Given the description of an element on the screen output the (x, y) to click on. 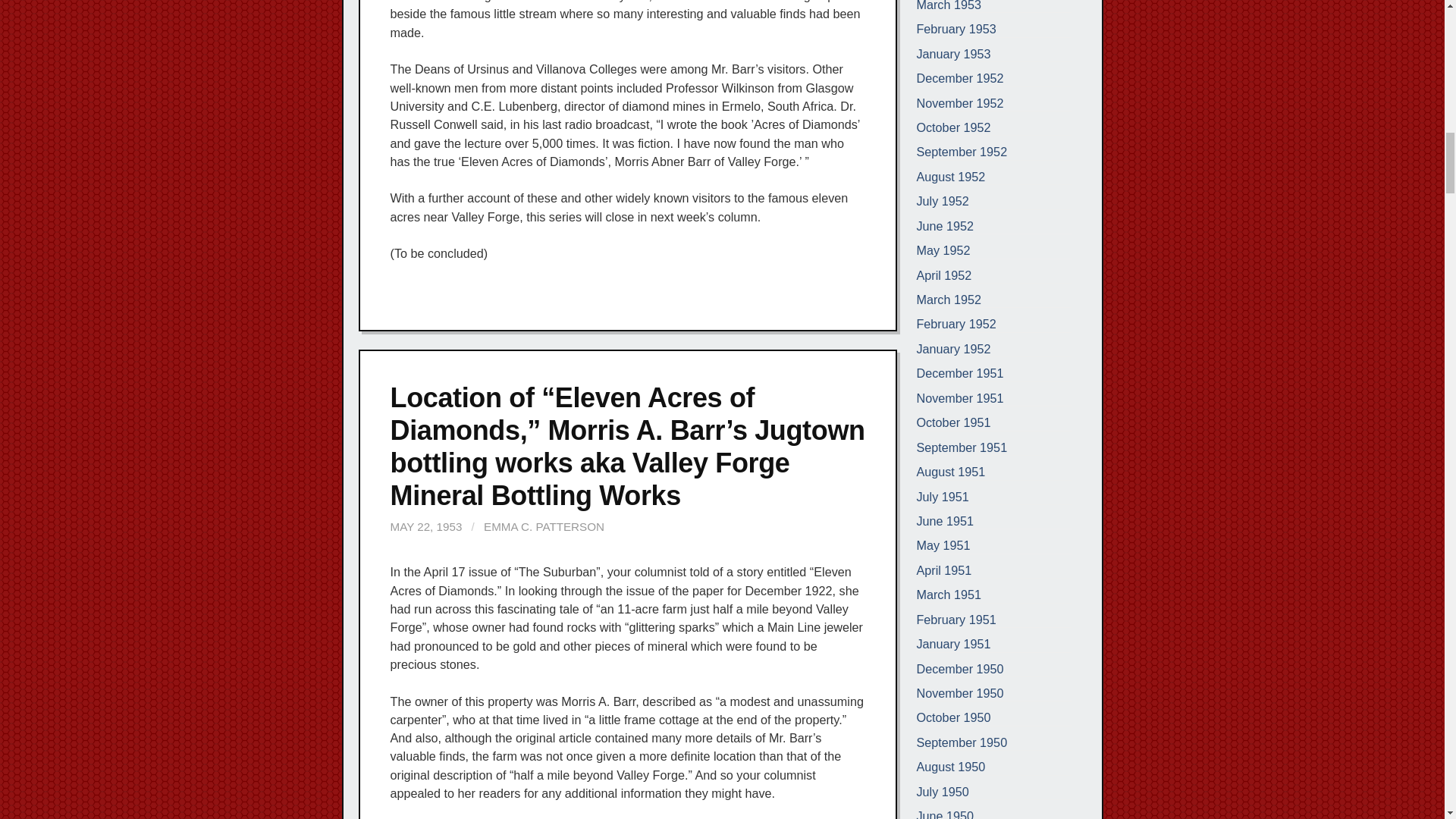
EMMA C. PATTERSON (543, 526)
MAY 22, 1953 (425, 526)
